Given the description of an element on the screen output the (x, y) to click on. 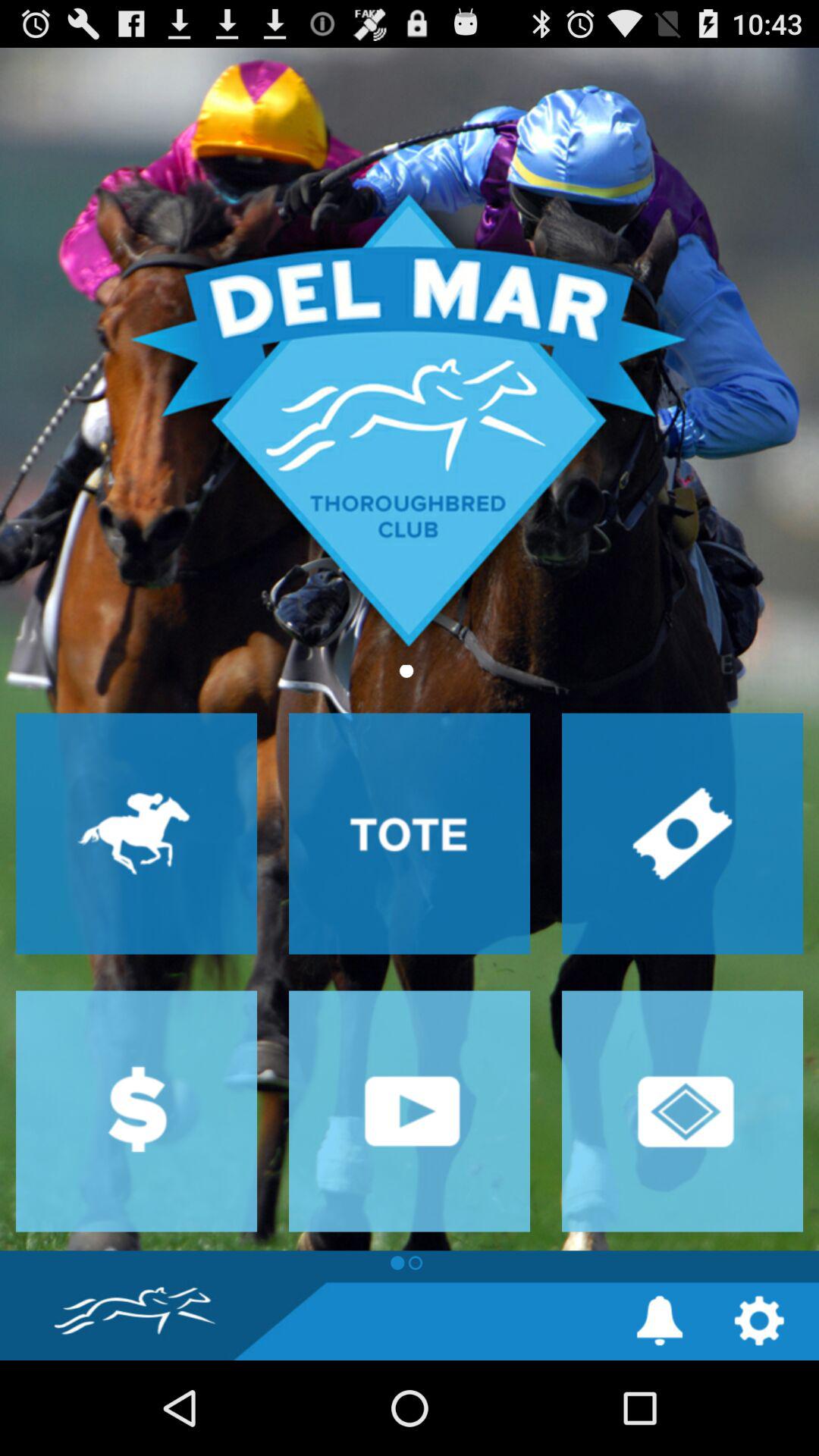
open tote interface (409, 833)
